Given the description of an element on the screen output the (x, y) to click on. 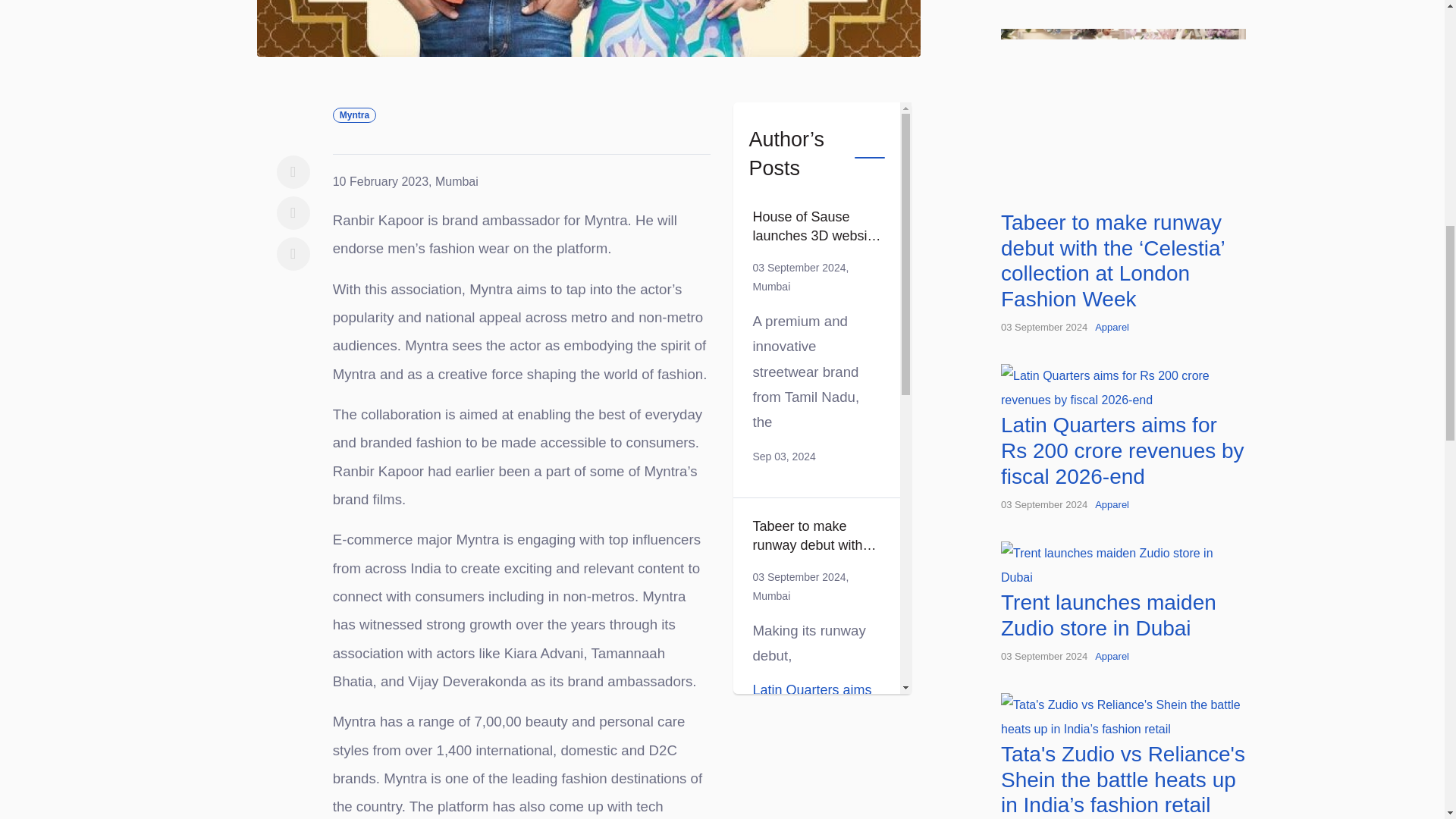
LinkedIn (293, 254)
Twitter (293, 213)
Facebook (293, 172)
